Given the description of an element on the screen output the (x, y) to click on. 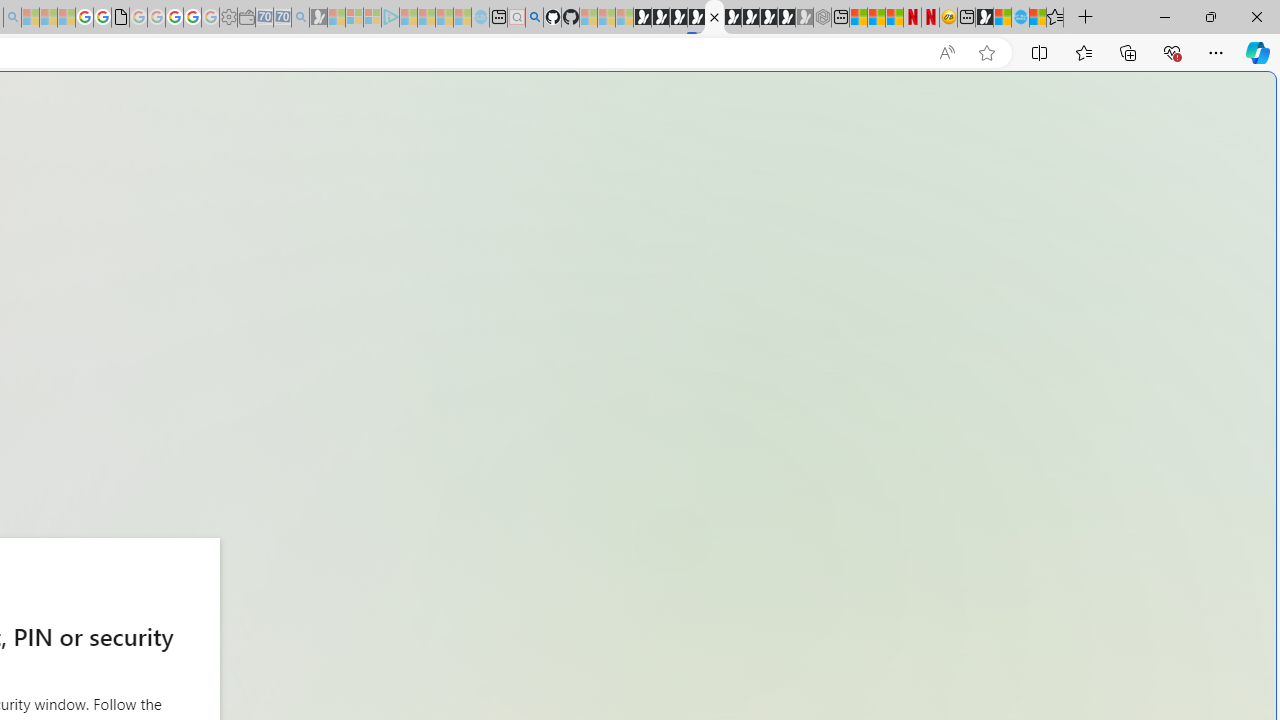
Search or enter web address (343, 191)
Play Cave FRVR in your browser | Games from Microsoft Start (343, 426)
MSN (984, 17)
github - Search (534, 17)
World - MSN (1002, 17)
Bing Real Estate - Home sales and rental listings - Sleeping (299, 17)
